Given the description of an element on the screen output the (x, y) to click on. 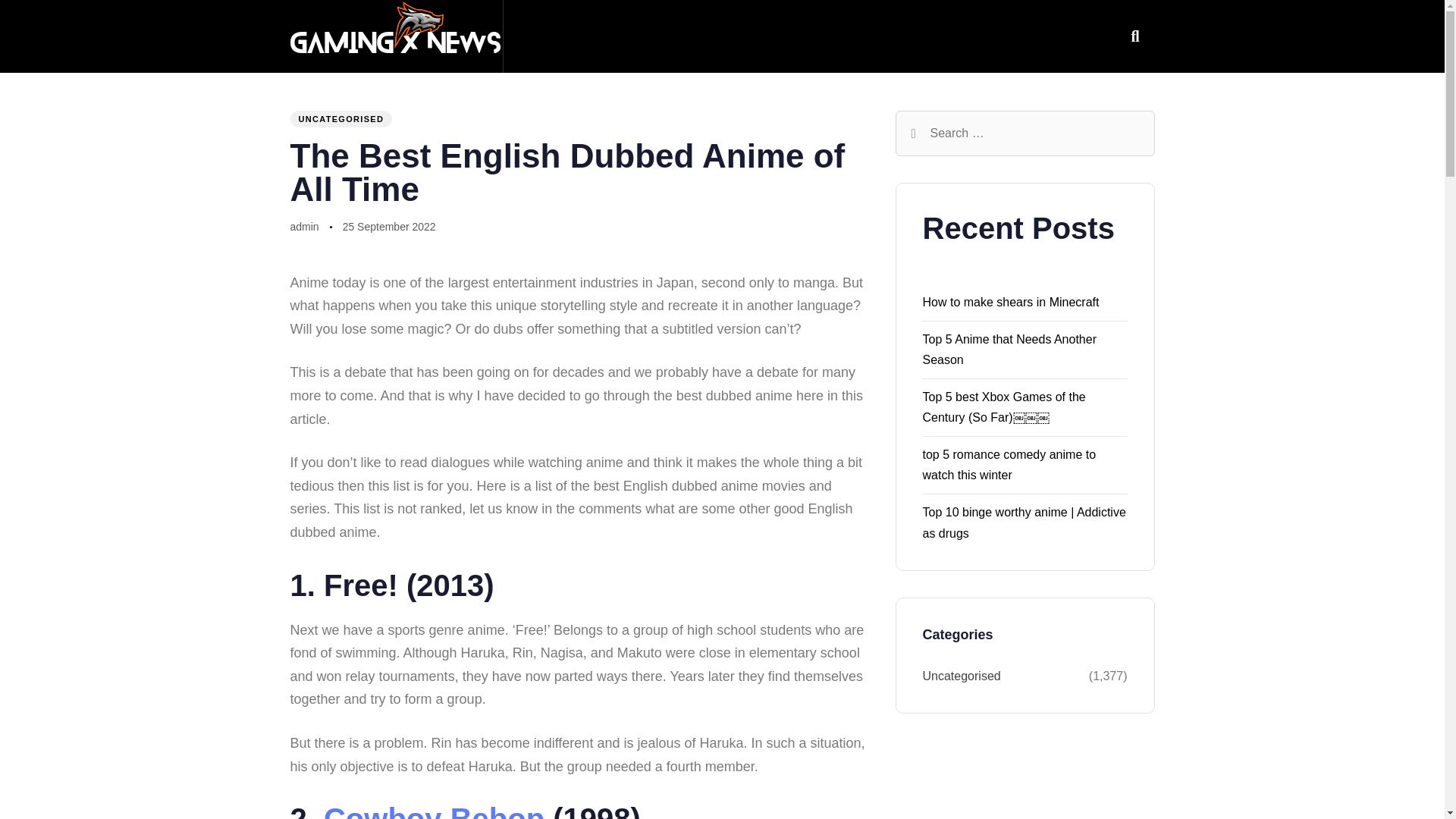
UNCATEGORISED (340, 118)
Cowboy Bebop (433, 810)
top 5 romance comedy anime to watch this winter (1008, 464)
25 September 2022 (388, 227)
Uncategorised (1004, 675)
Top 5 Anime that Needs Another Season (1008, 349)
How to make shears in Minecraft (1010, 301)
admin (303, 226)
Posts by admin (303, 226)
